Given the description of an element on the screen output the (x, y) to click on. 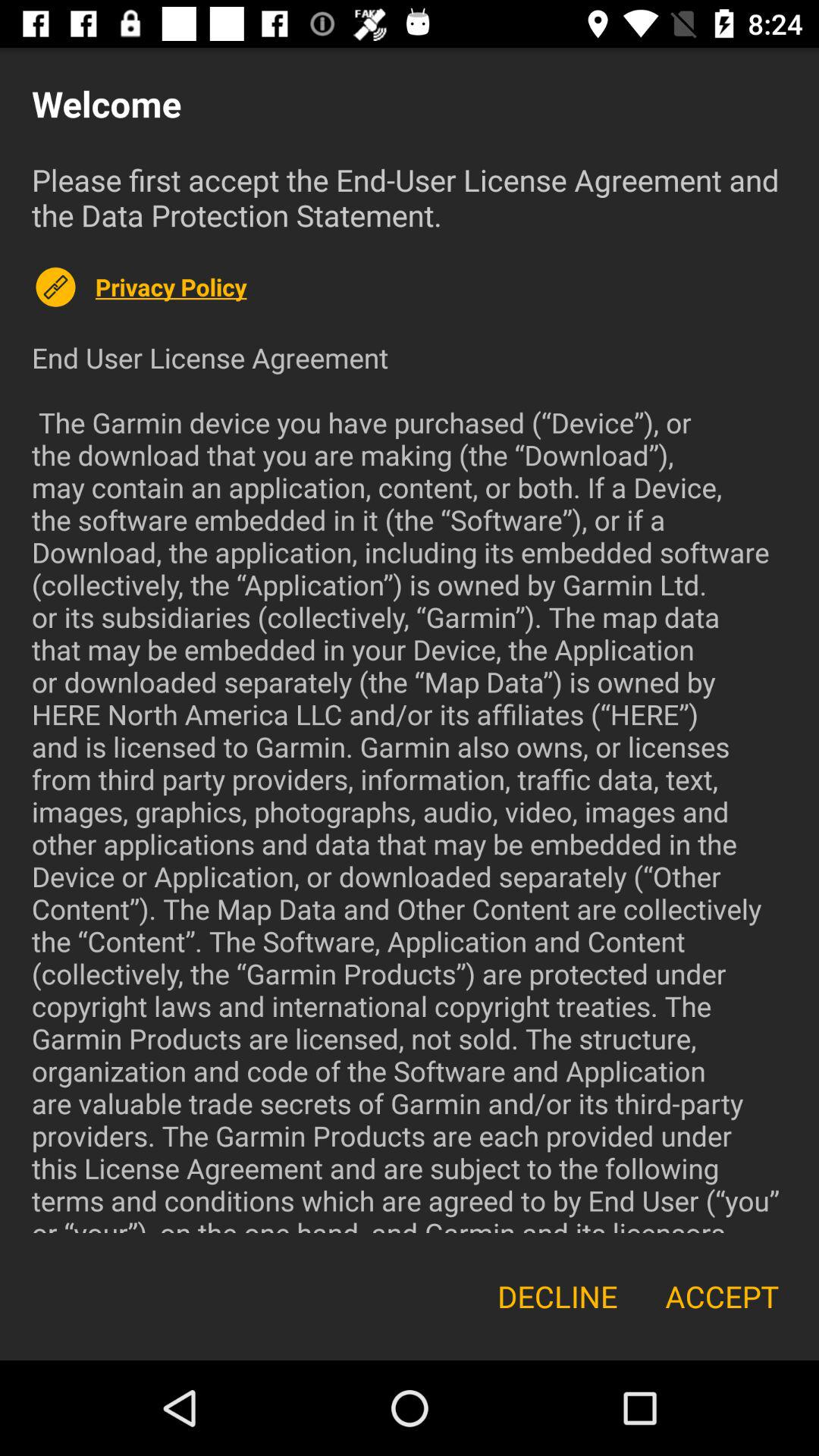
flip to the privacy policy item (441, 286)
